Given the description of an element on the screen output the (x, y) to click on. 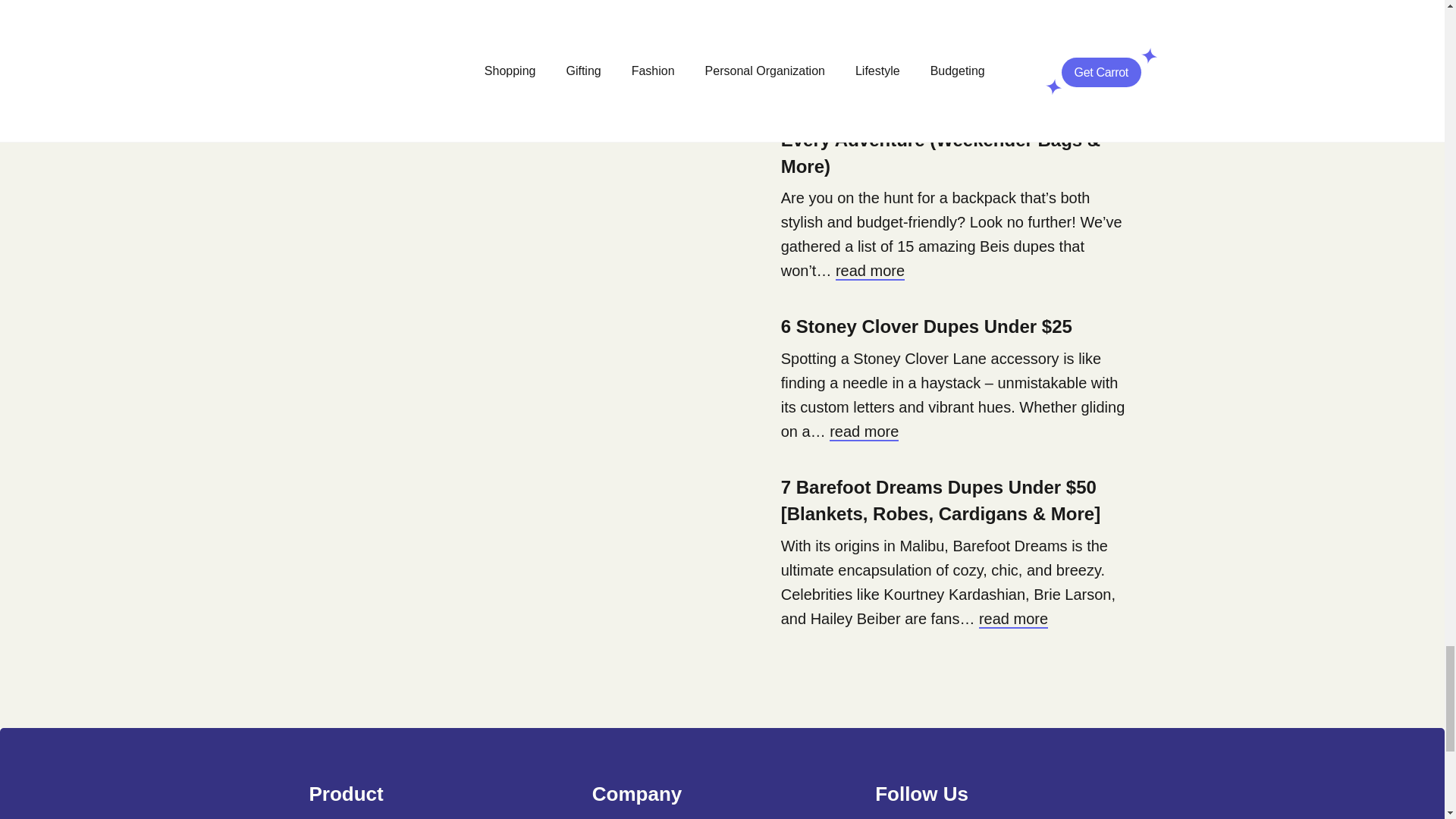
read more (863, 432)
read more (869, 271)
read more (1013, 619)
